Given the description of an element on the screen output the (x, y) to click on. 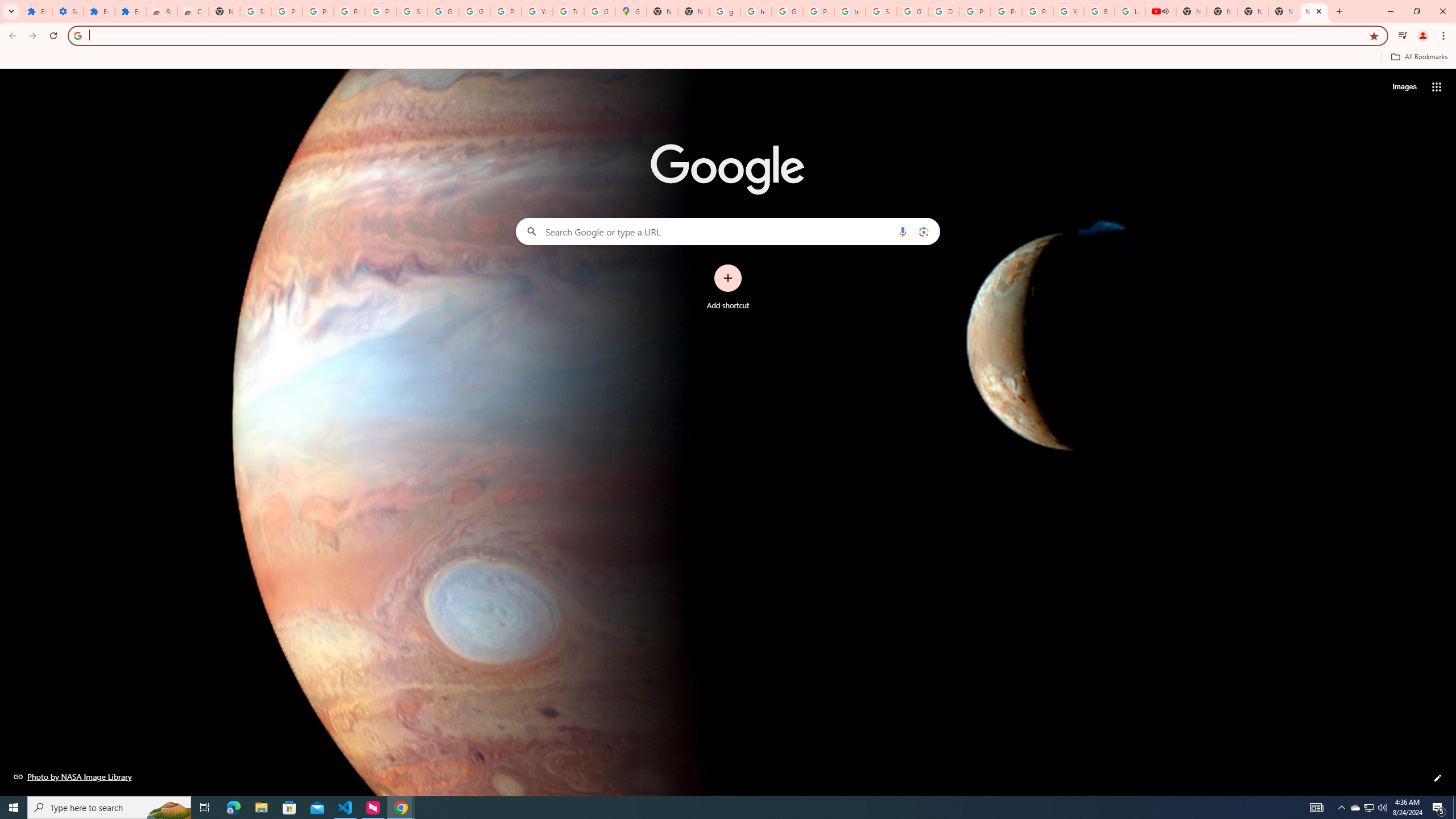
Extensions (98, 11)
Extensions (36, 11)
Sign in - Google Accounts (255, 11)
Google Maps (631, 11)
